Given the description of an element on the screen output the (x, y) to click on. 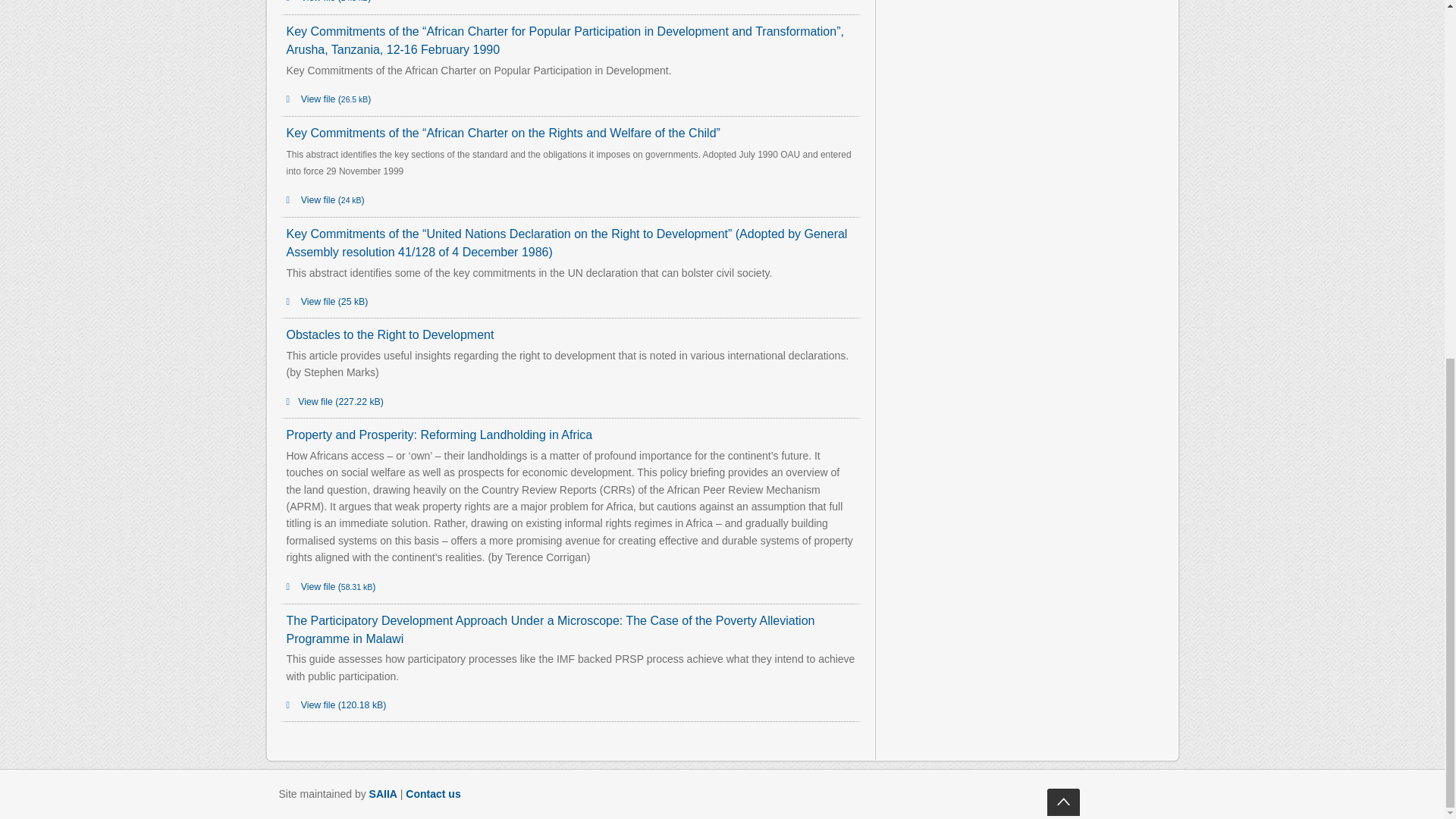
Obstacles to the Right to Development (390, 334)
Property and Prosperity: Reforming Landholding in Africa (439, 434)
